Given the description of an element on the screen output the (x, y) to click on. 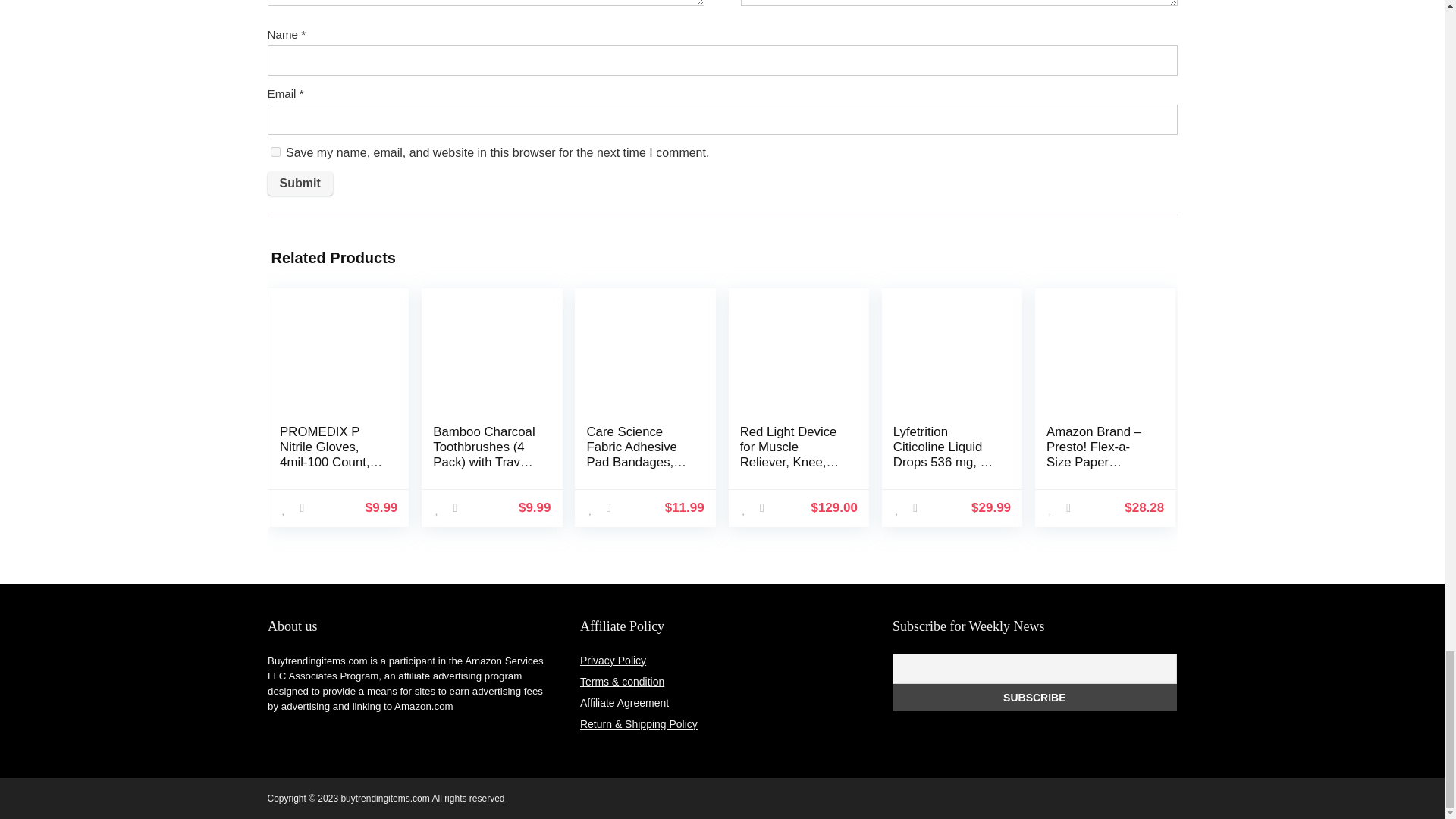
Submit (298, 183)
yes (274, 152)
SUBSCRIBE (1034, 697)
